Given the description of an element on the screen output the (x, y) to click on. 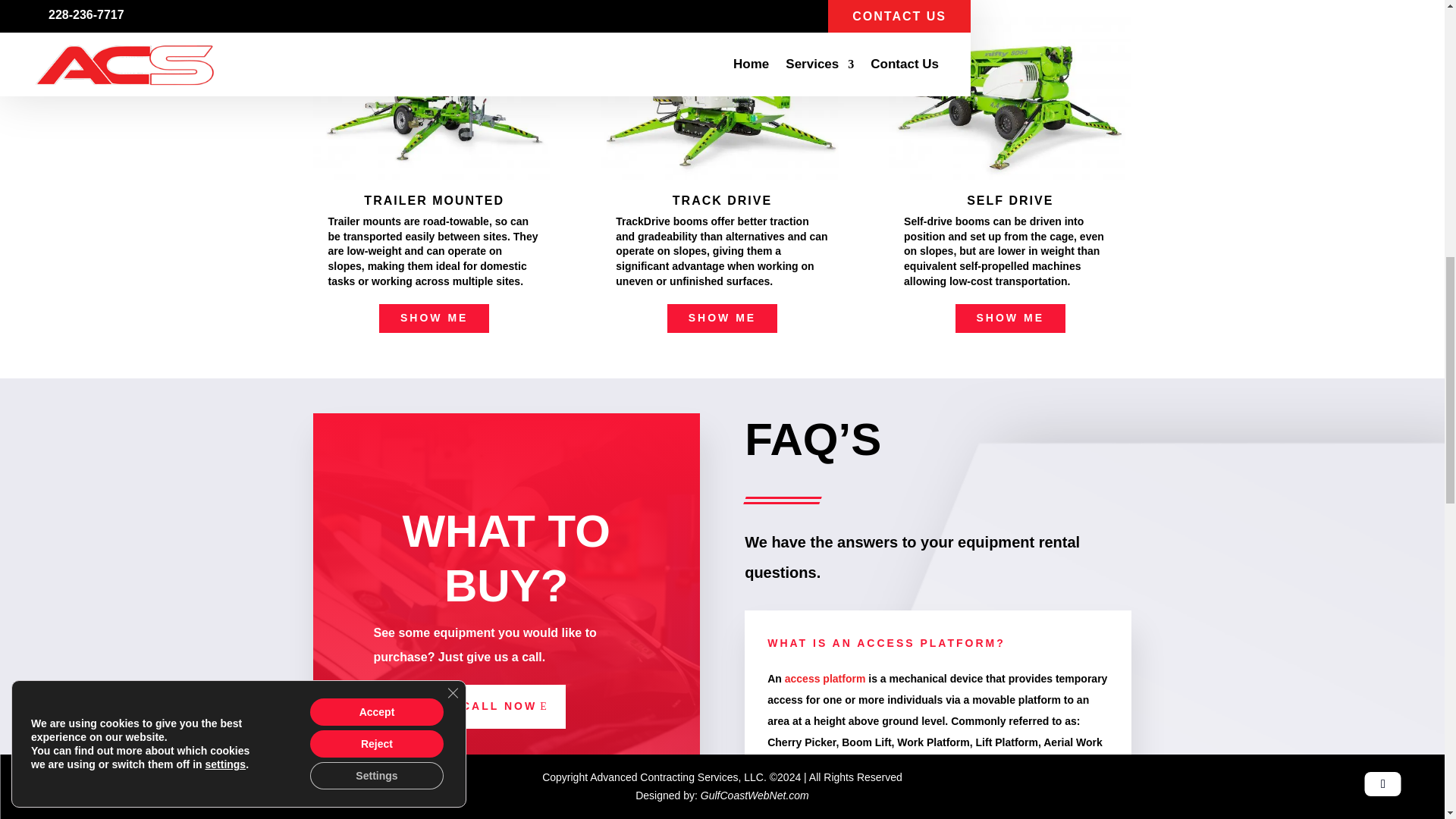
SHOW ME (721, 317)
SHOW ME (1010, 317)
access platform (825, 678)
CALL NOW (506, 706)
SHOW ME (433, 317)
